Given the description of an element on the screen output the (x, y) to click on. 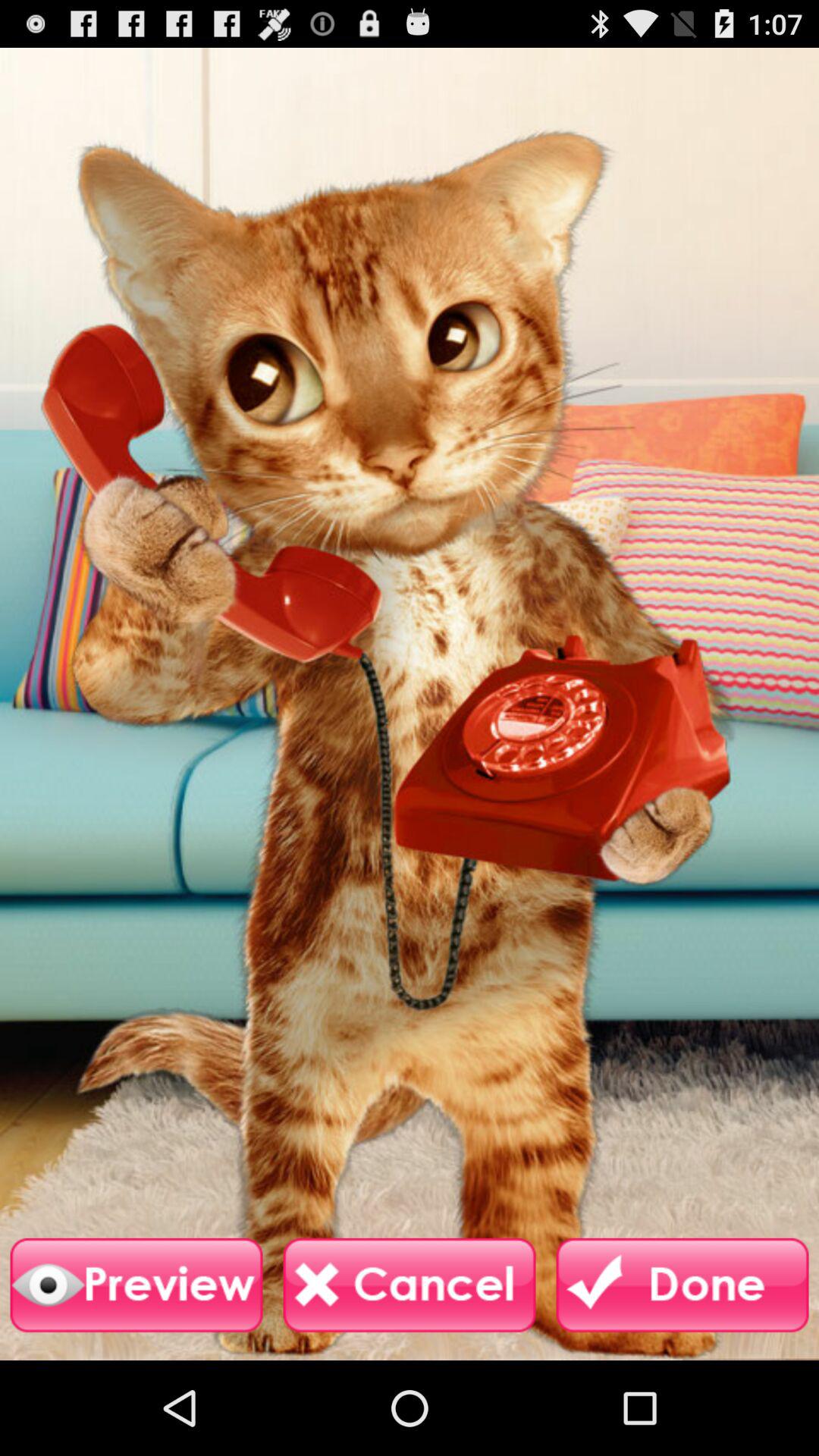
preview (136, 1285)
